Given the description of an element on the screen output the (x, y) to click on. 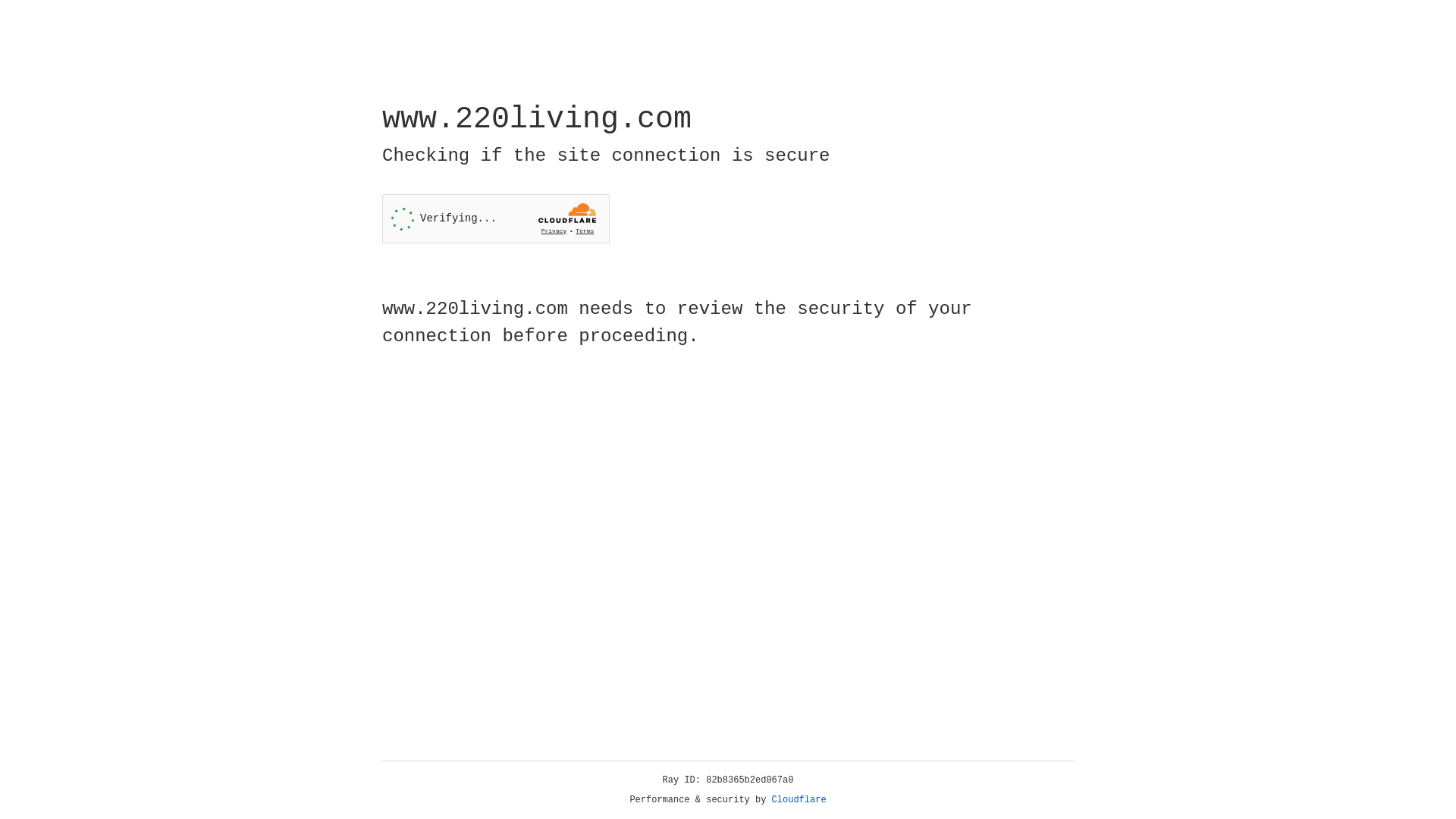
Widget containing a Cloudflare security challenge Element type: hover (495, 218)
Cloudflare Element type: text (798, 799)
